Given the description of an element on the screen output the (x, y) to click on. 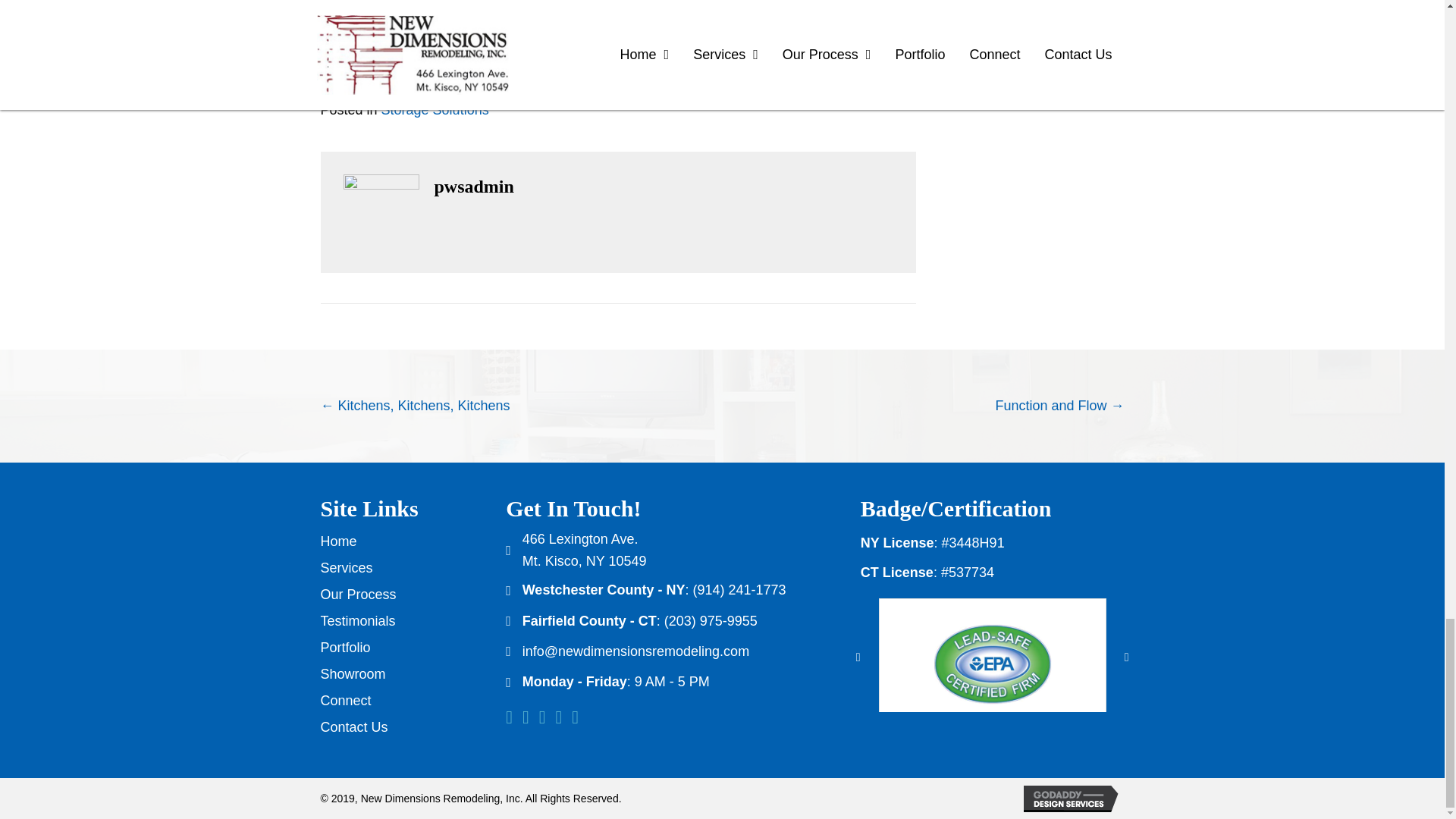
Storage Solutions (435, 109)
